Given the description of an element on the screen output the (x, y) to click on. 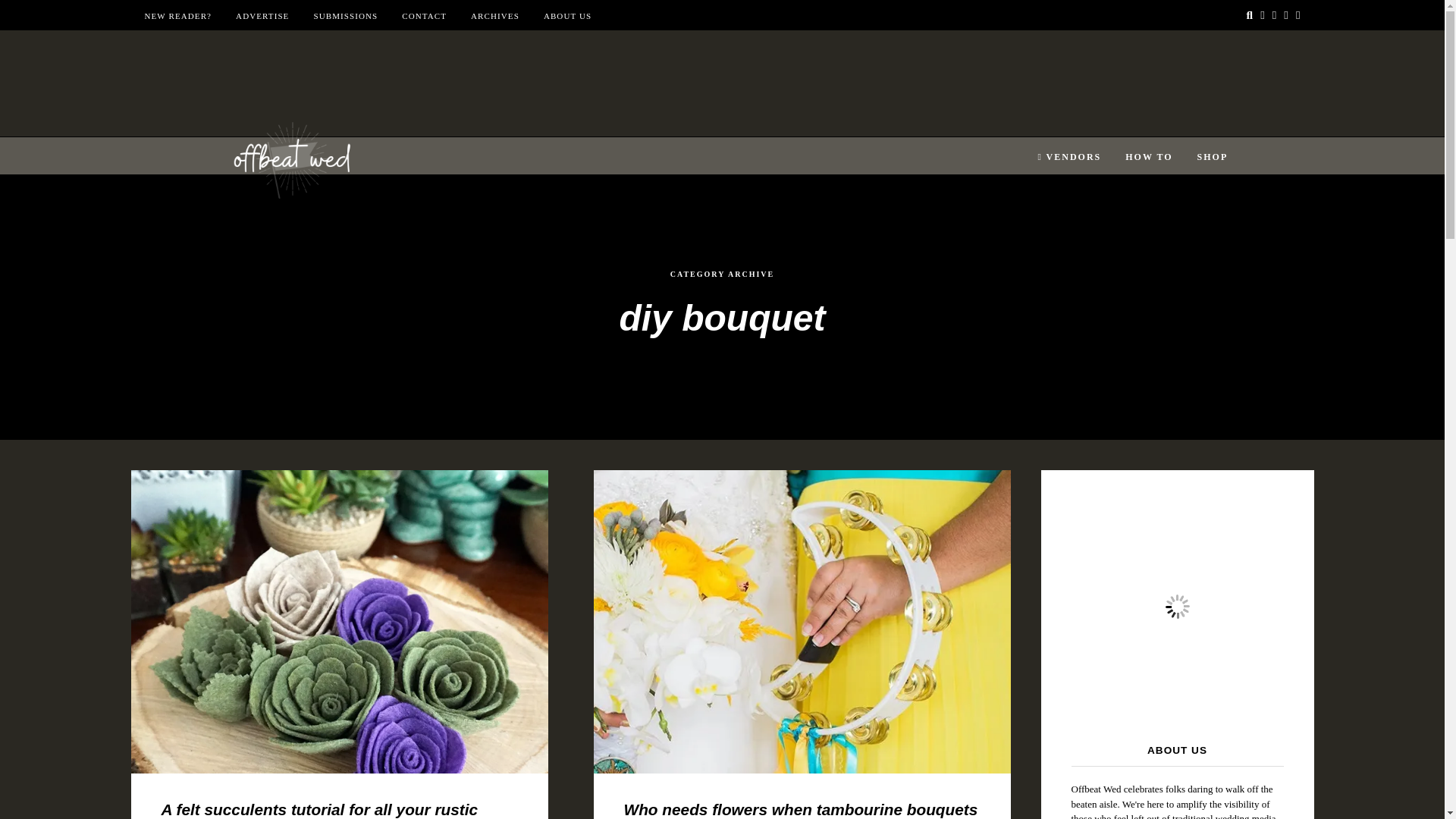
SHOP (1212, 157)
HOW TO (1148, 157)
ADVERTISE (261, 15)
Who needs flowers when tambourine bouquets are a thing? (799, 809)
ARCHIVES (494, 15)
NEW READER? (177, 15)
ABOUT US (567, 15)
SUBMISSIONS (345, 15)
CONTACT (423, 15)
